Given the description of an element on the screen output the (x, y) to click on. 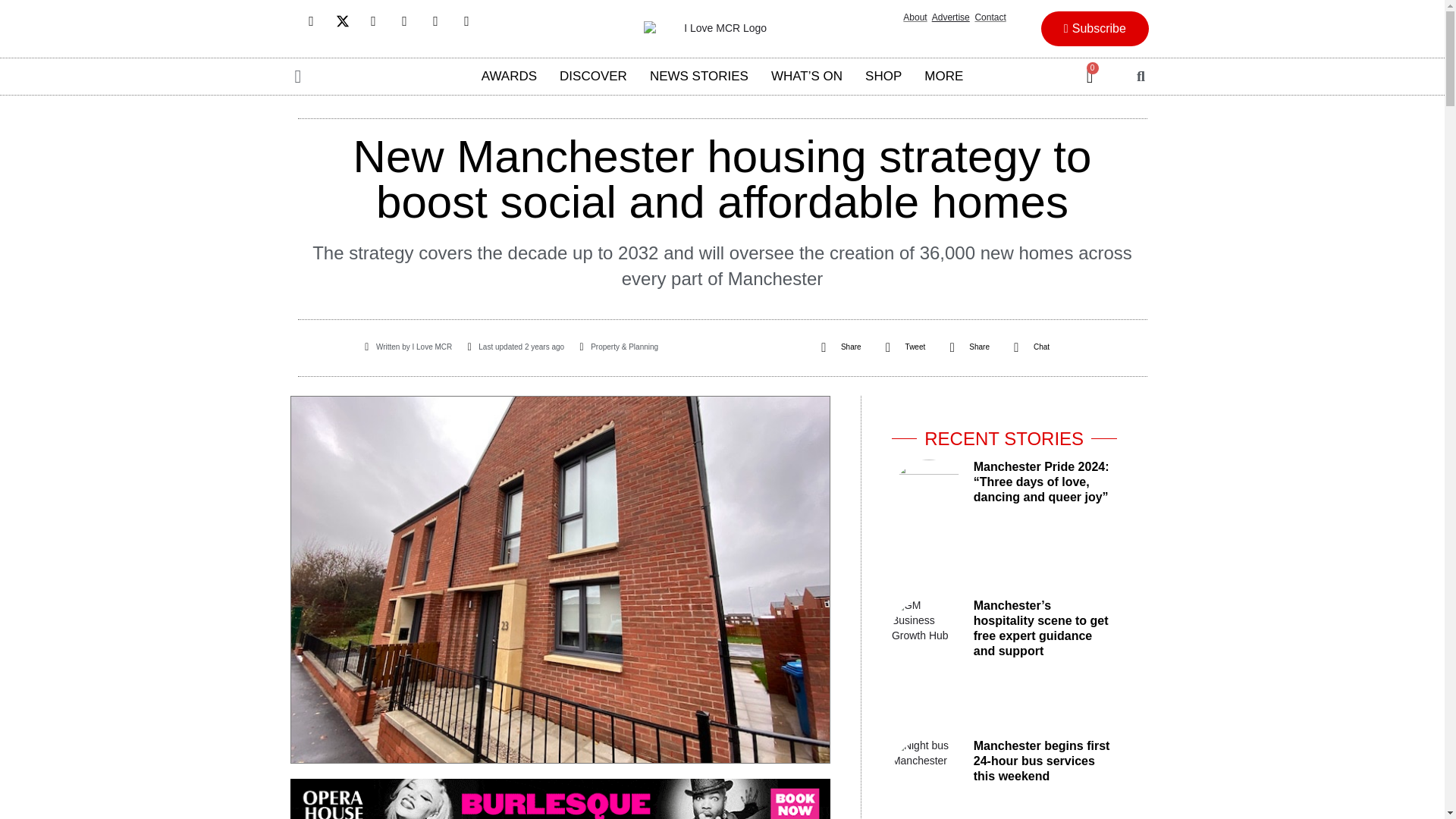
DISCOVER (593, 76)
AWARDS (509, 76)
Advertise (950, 17)
ilovemcr-website-logo 544 (718, 28)
Subscribe (1094, 28)
Contact (990, 17)
About (914, 17)
NEWS STORIES (699, 76)
